Given the description of an element on the screen output the (x, y) to click on. 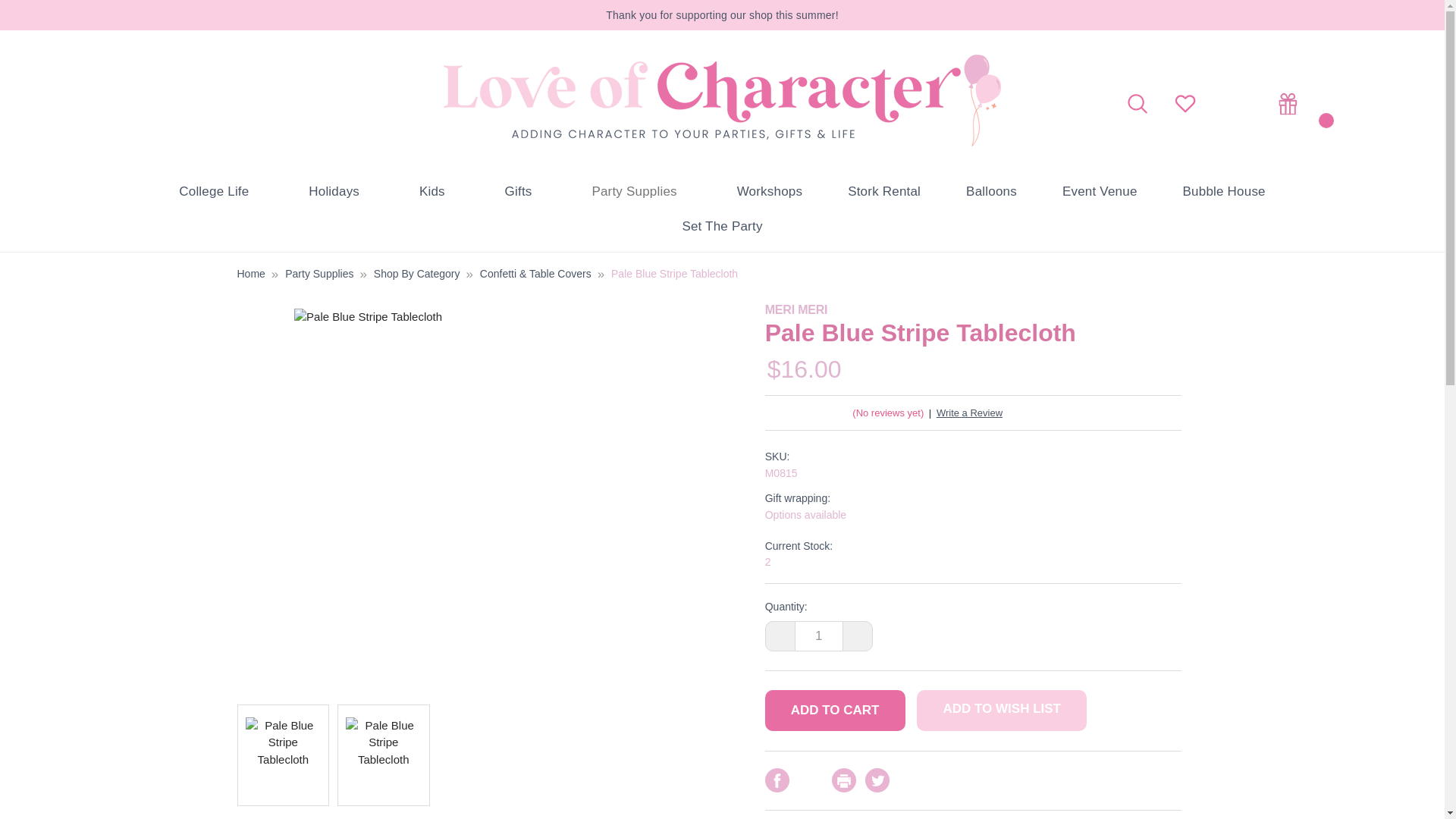
My Account (1237, 104)
Love of Character (722, 100)
Kids (438, 191)
Holidays (340, 191)
Pale Blue Stripe Tablecloth (383, 755)
1 (818, 635)
Add to Cart (835, 710)
College Life (220, 191)
Pale Blue Stripe Tablecloth (283, 755)
